Given the description of an element on the screen output the (x, y) to click on. 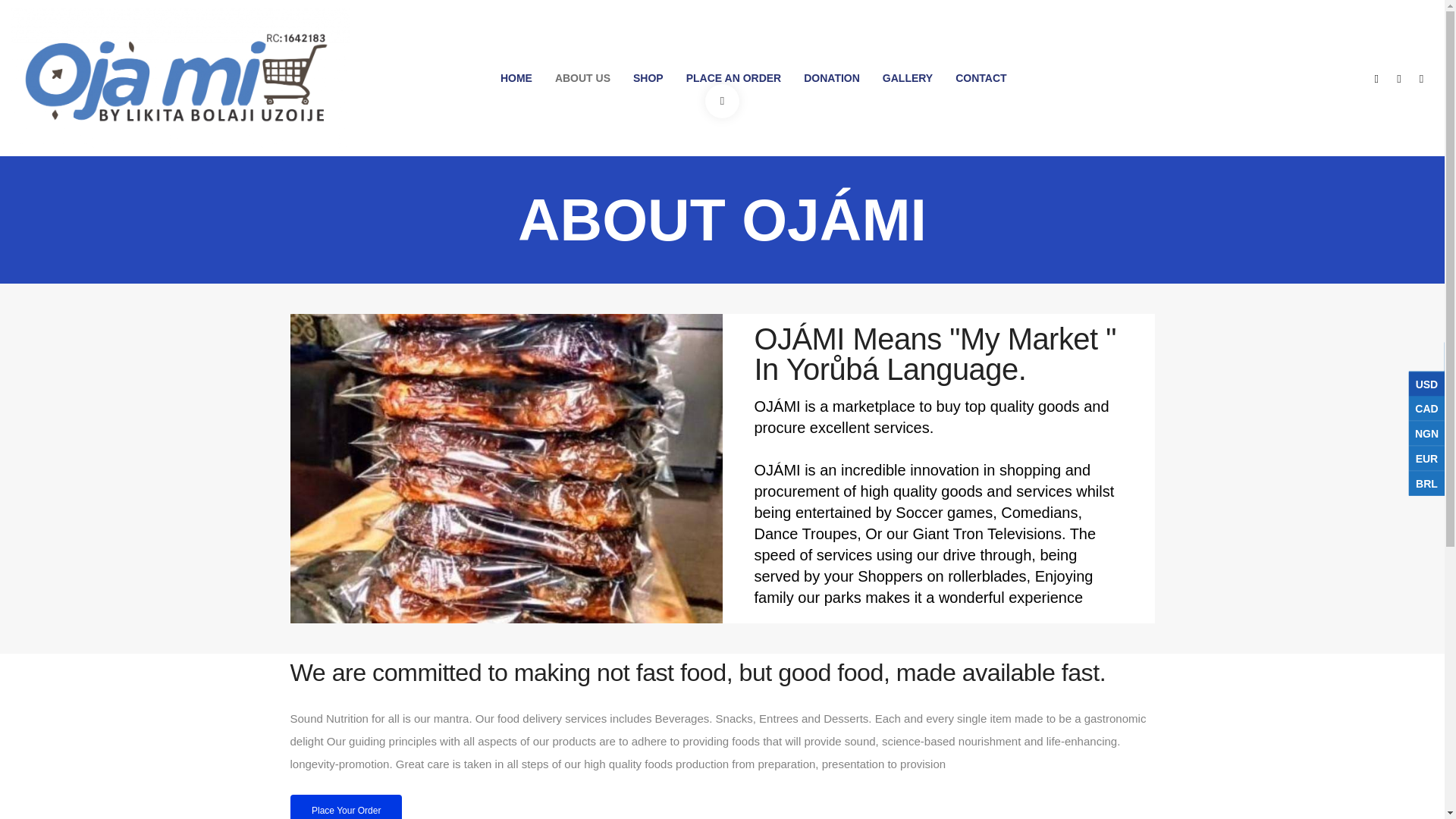
HOME (516, 77)
ABOUT US (582, 77)
PLACE AN ORDER (734, 77)
GALLERY (906, 77)
Place Your Order (345, 806)
SHOP (648, 77)
DONATION (831, 77)
CONTACT (980, 77)
